Given the description of an element on the screen output the (x, y) to click on. 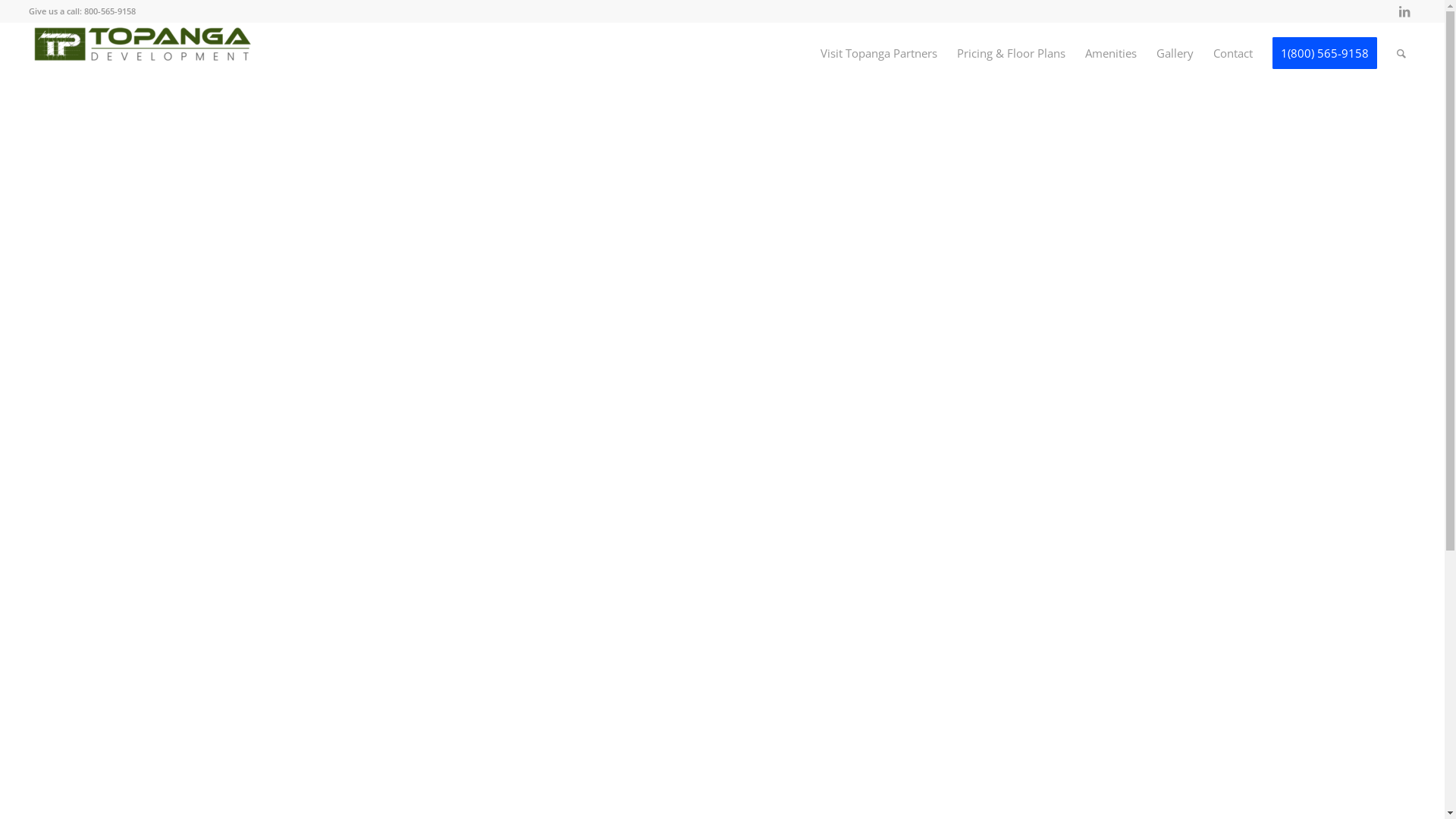
Pricing & Floor Plans Element type: text (1011, 52)
Gallery Element type: text (1174, 52)
Amenities Element type: text (1110, 52)
1(800) 565-9158 Element type: text (1324, 52)
LinkedIn Element type: hover (1404, 11)
Contact Element type: text (1232, 52)
Visit Topanga Partners Element type: text (878, 52)
